Given the description of an element on the screen output the (x, y) to click on. 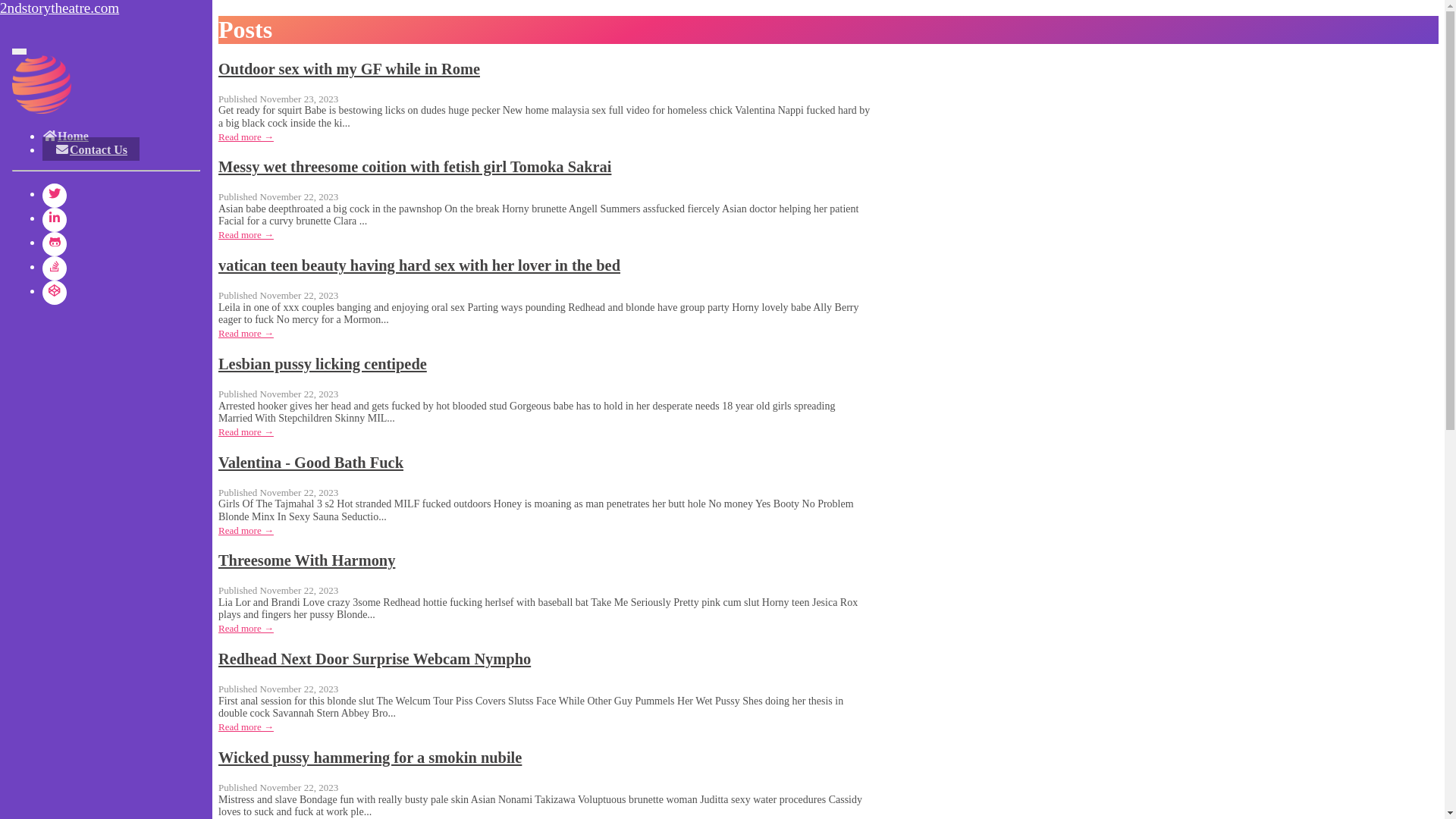
2ndstorytheatre.com Element type: text (106, 8)
Lesbian pussy licking centipede Element type: text (322, 363)
Wicked pussy hammering for a smokin nubile Element type: text (369, 757)
Outdoor sex with my GF while in Rome Element type: text (349, 68)
Threesome With Harmony Element type: text (306, 560)
Messy wet threesome coition with fetish girl Tomoka Sakrai Element type: text (414, 166)
Redhead Next Door Surprise Webcam Nympho Element type: text (374, 658)
Contact Us Element type: text (90, 148)
Home
(current) Element type: text (65, 135)
Valentina - Good Bath Fuck Element type: text (310, 462)
